Given the description of an element on the screen output the (x, y) to click on. 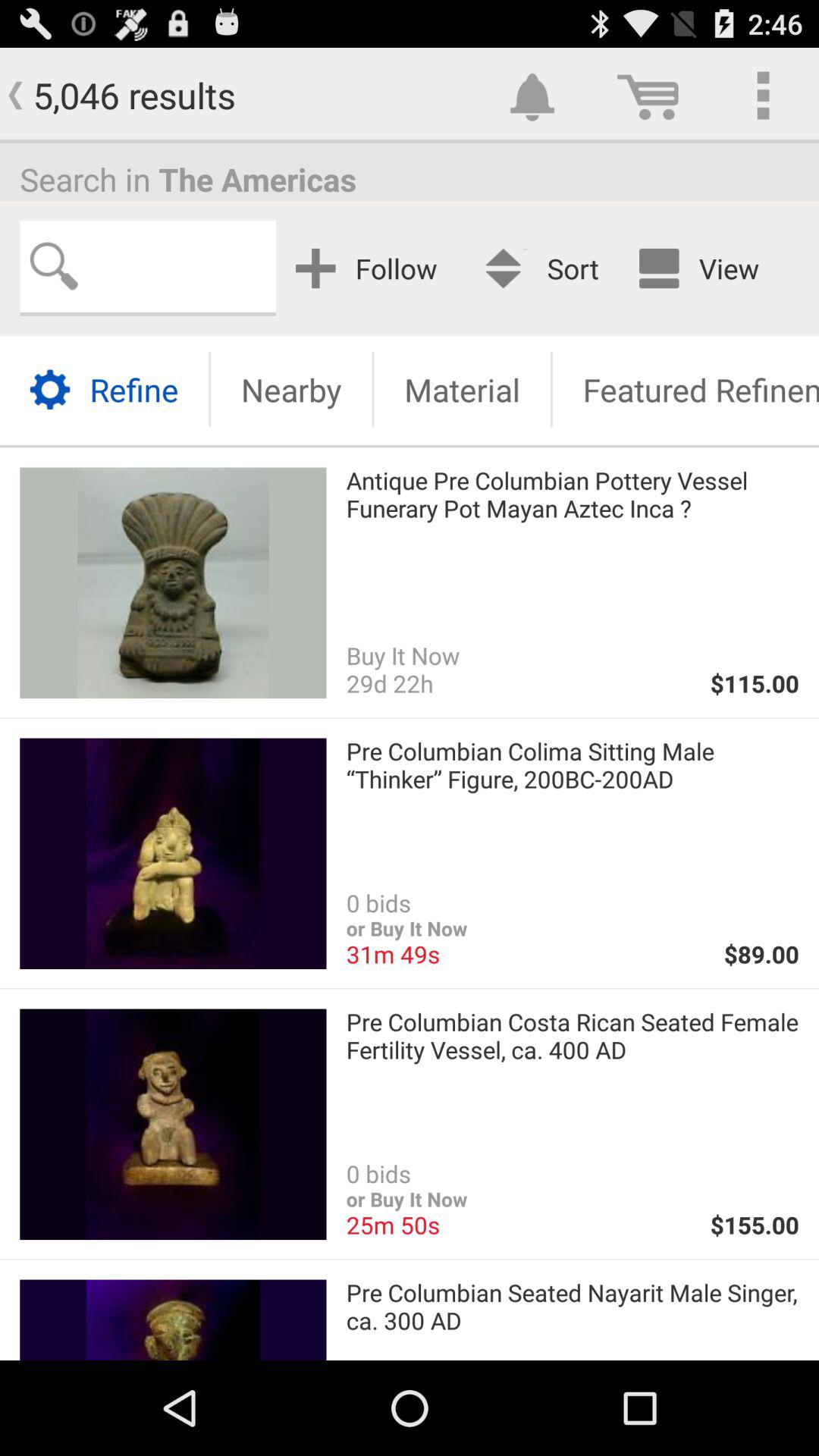
turn on item below the follow app (462, 389)
